Given the description of an element on the screen output the (x, y) to click on. 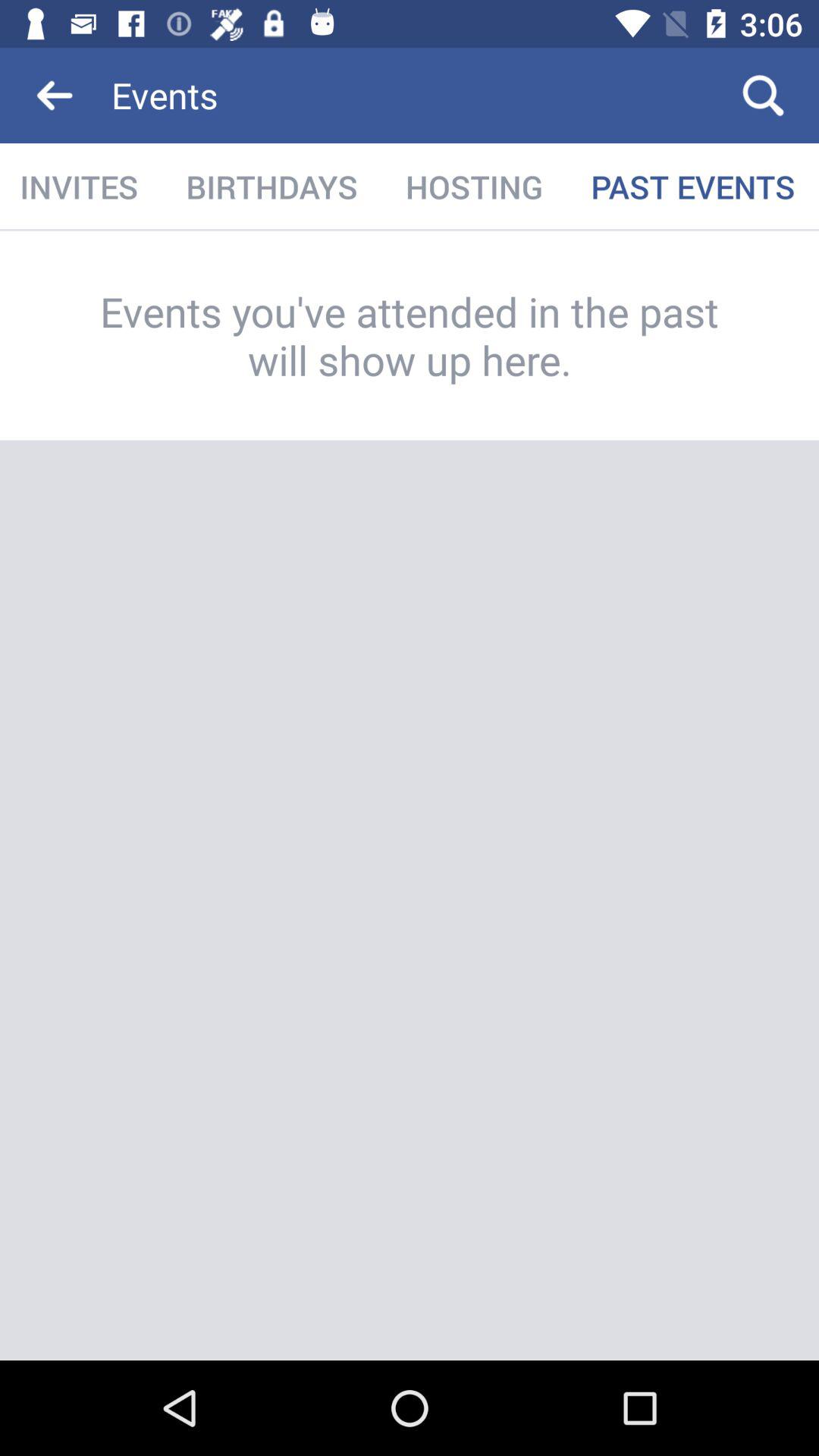
open icon above invites item (55, 95)
